Given the description of an element on the screen output the (x, y) to click on. 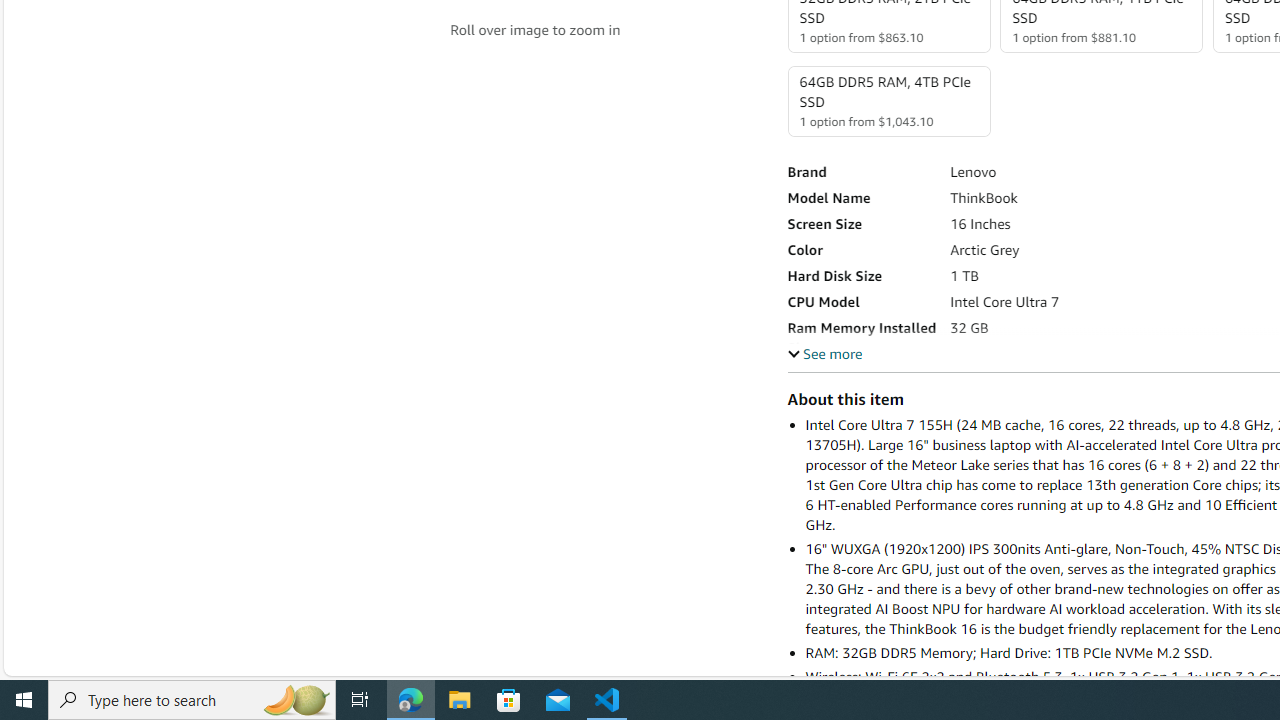
64GB DDR5 RAM, 4TB PCIe SSD 1 option from $1,043.10 (888, 101)
